Given the description of an element on the screen output the (x, y) to click on. 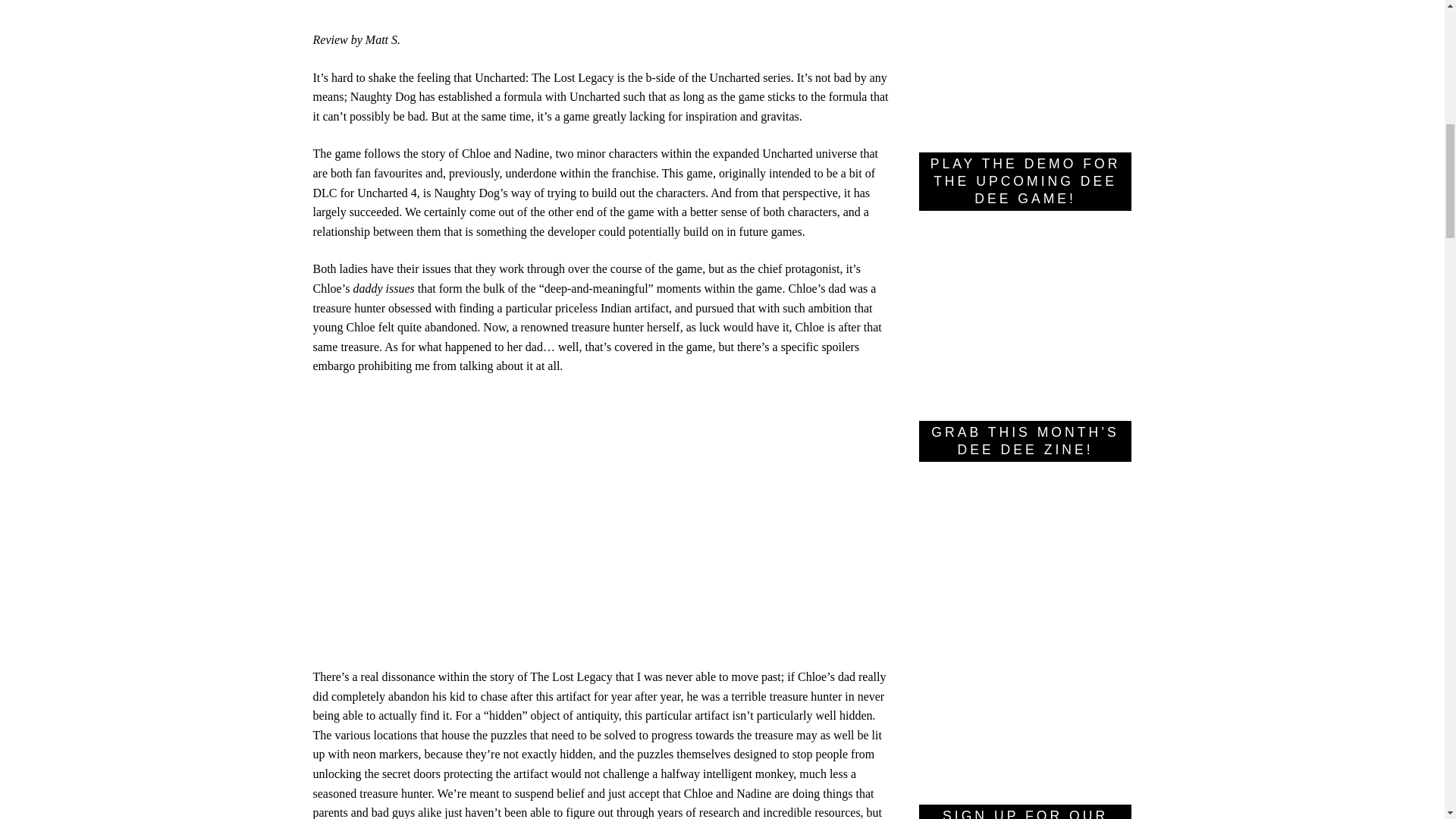
Uncharted: The Lost Legacy (1396, 20)
Uncharted: The Lost Legacy (600, 530)
